Given the description of an element on the screen output the (x, y) to click on. 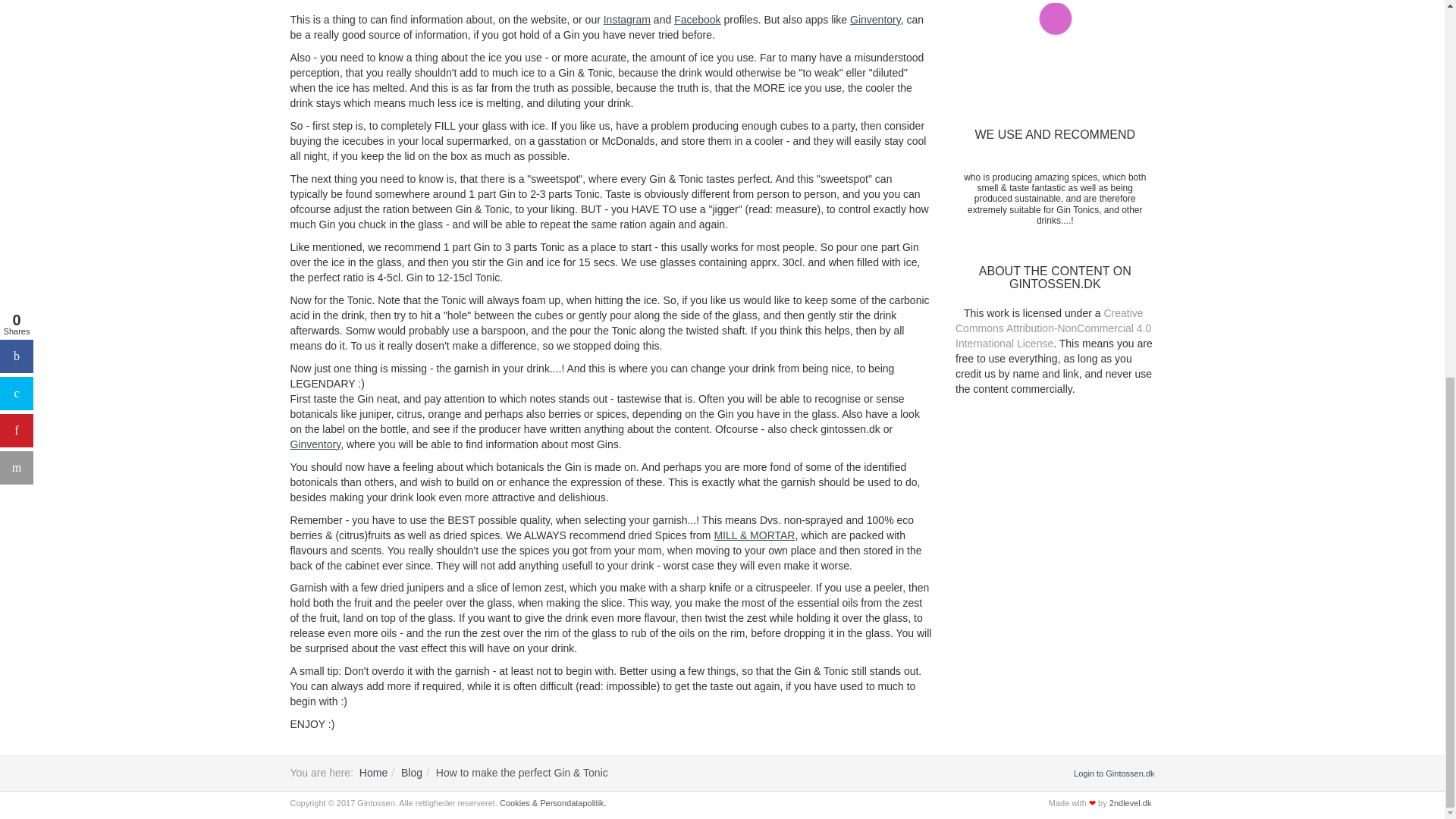
Ginventory app. (875, 19)
CMS Hjemmesider til professionelle (1130, 802)
Login (1114, 773)
Ginventory app. (314, 444)
